Given the description of an element on the screen output the (x, y) to click on. 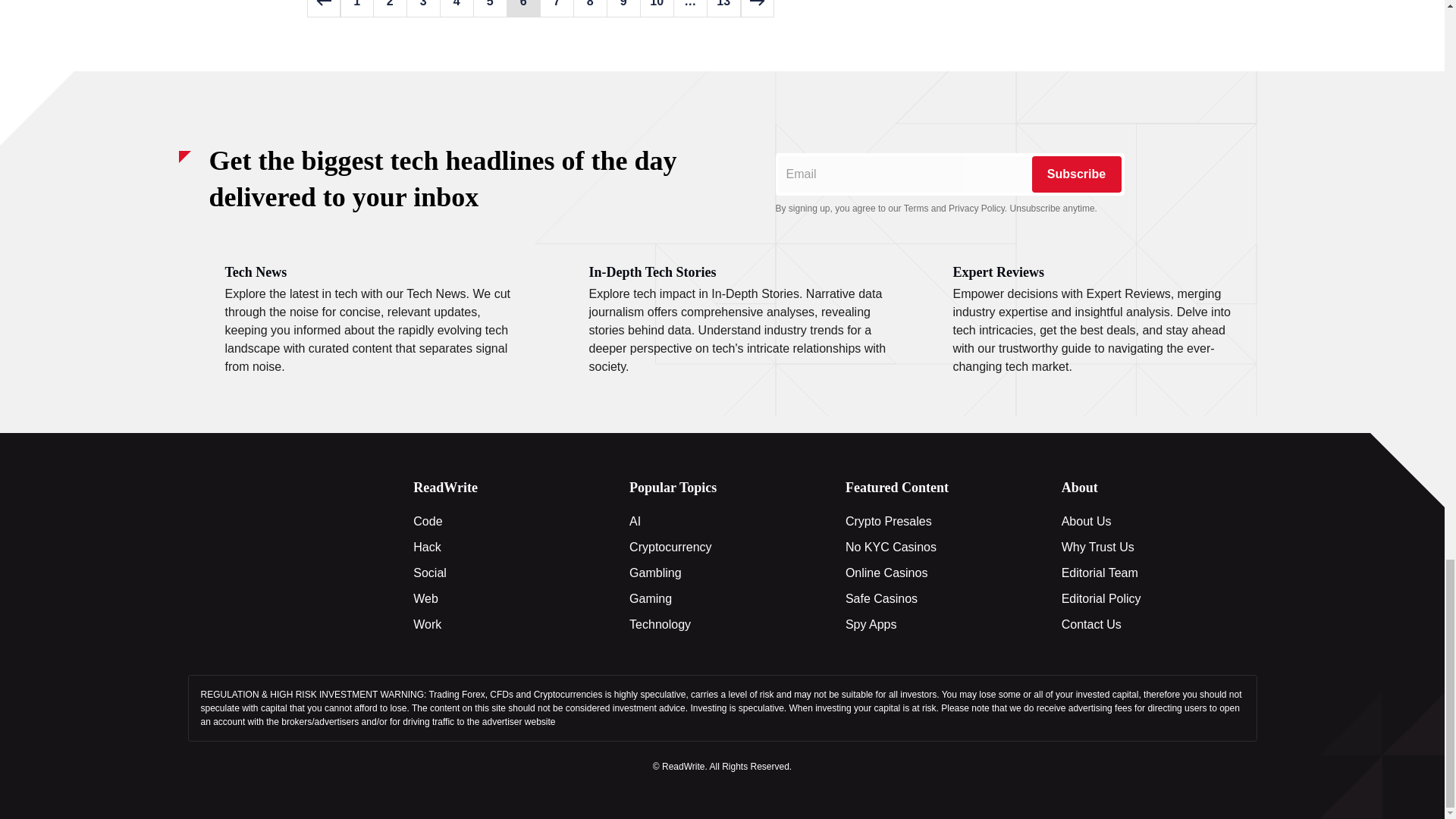
Subscribe (1075, 174)
